Given the description of an element on the screen output the (x, y) to click on. 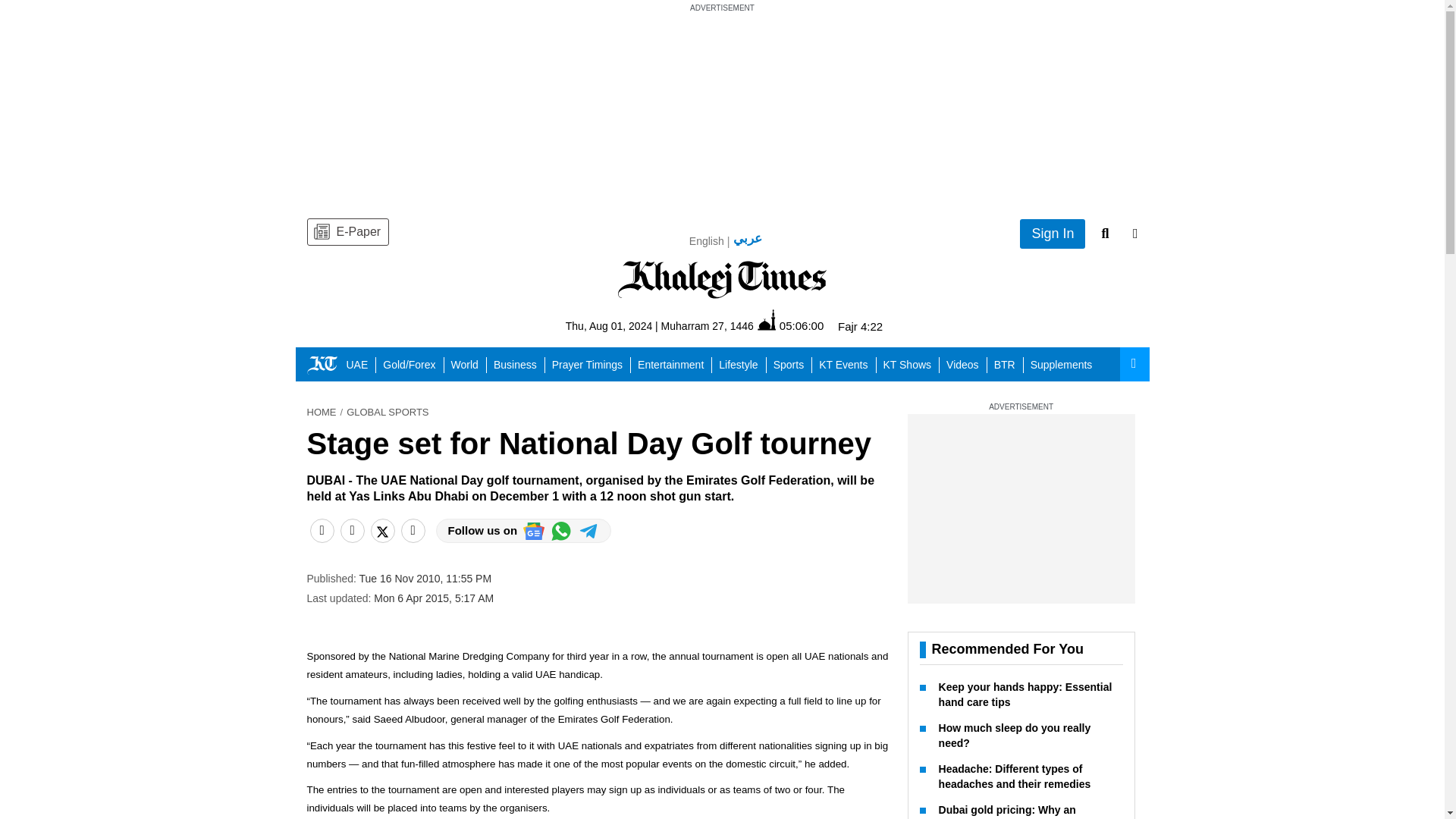
05:06:00 (790, 324)
Sign In (1052, 233)
Fajr 4:22 (860, 326)
E-Paper (346, 231)
